Given the description of an element on the screen output the (x, y) to click on. 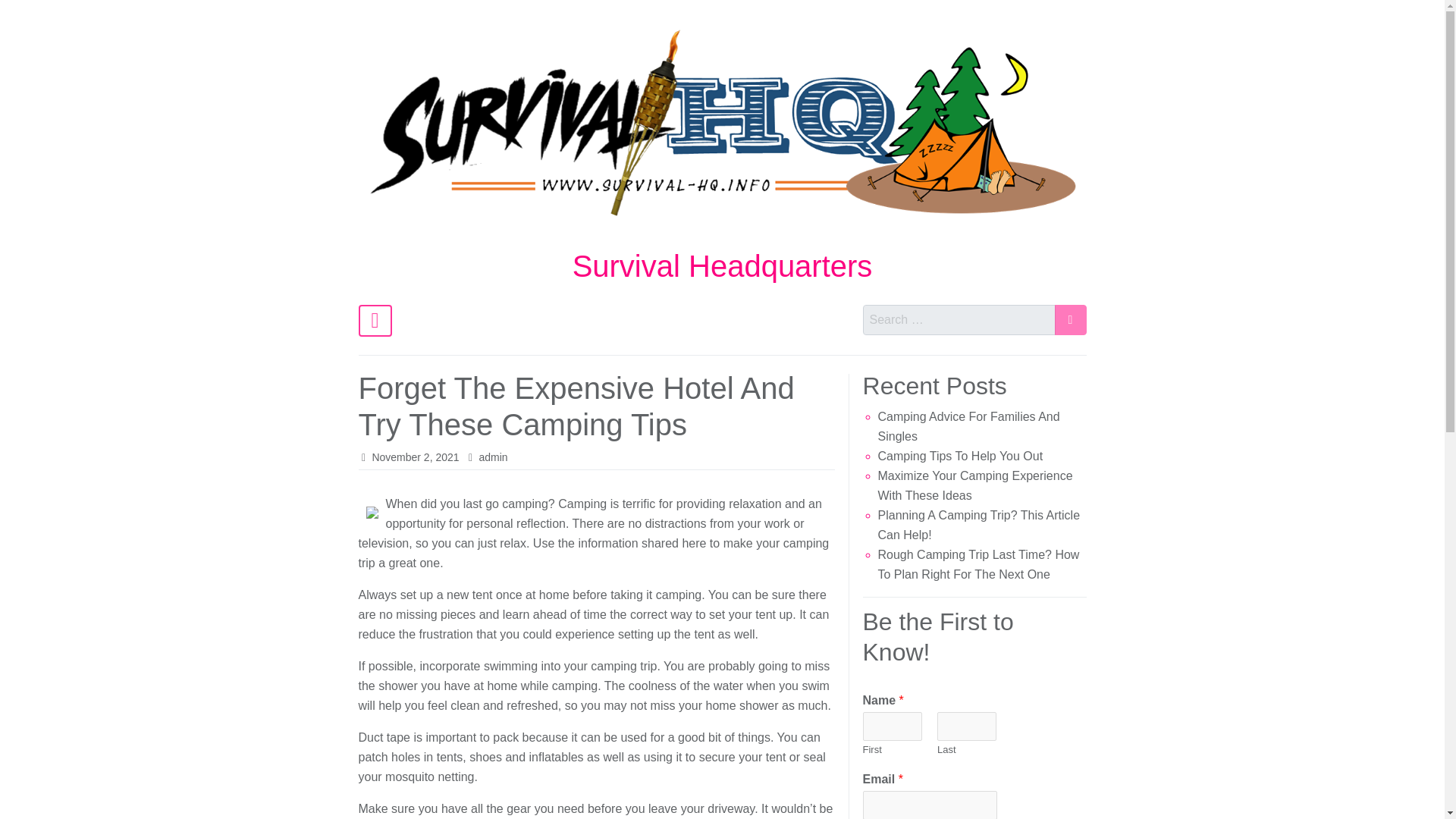
Camping Advice For Families And Singles (968, 426)
Planning A Camping Trip? This Article Can Help! (978, 524)
Maximize Your Camping Experience With These Ideas (975, 485)
Camping Tips To Help You Out (960, 455)
Survival Headquarters (722, 265)
Survival Headquarters (722, 265)
November 2, 2021 (414, 457)
admin (492, 457)
